Given the description of an element on the screen output the (x, y) to click on. 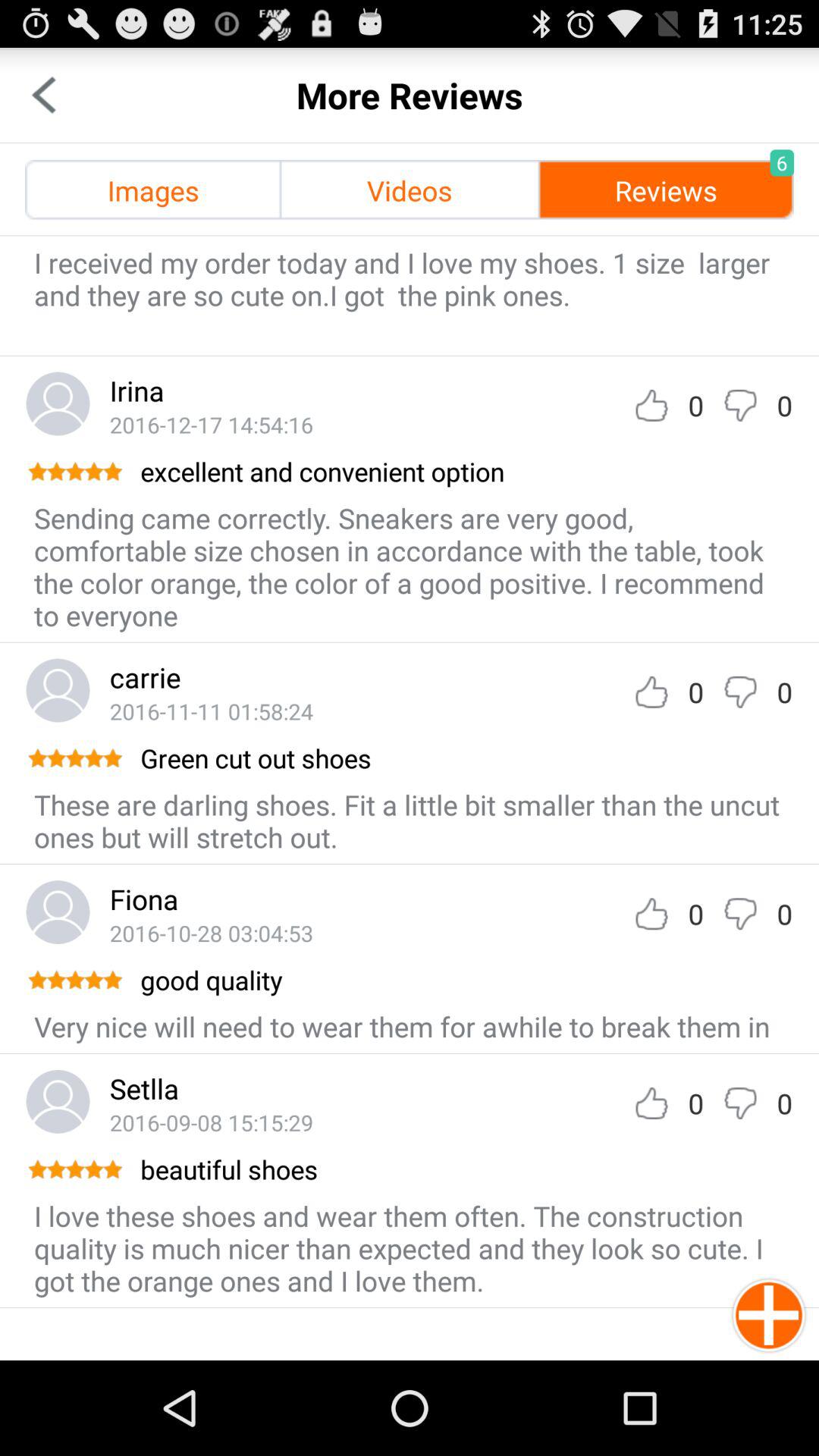
go back (43, 95)
